Given the description of an element on the screen output the (x, y) to click on. 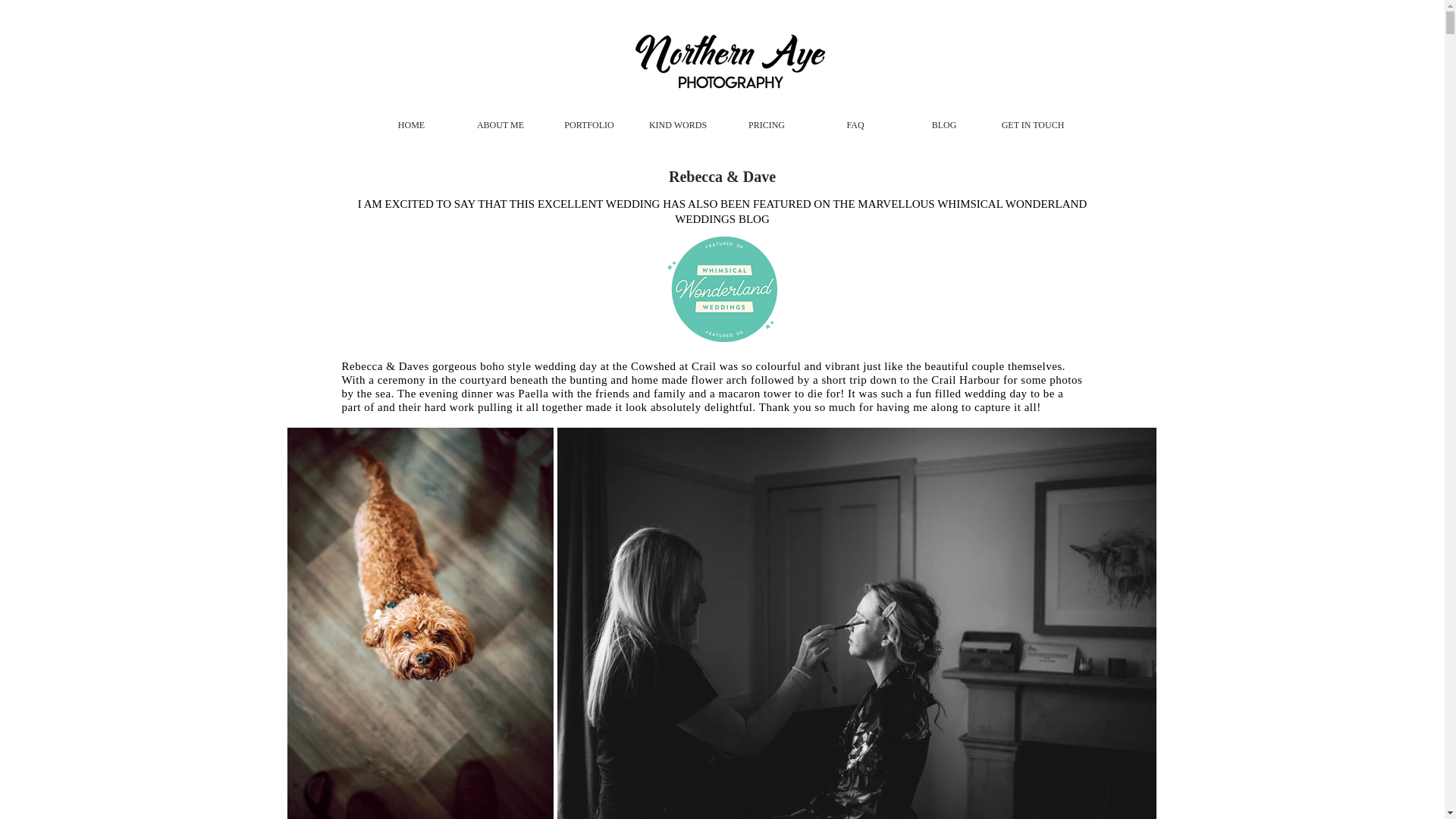
HOME (410, 125)
BLOG (944, 125)
FAQ (854, 125)
KIND WORDS (677, 125)
PRICING (767, 125)
GET IN TOUCH (1032, 125)
ABOUT ME (500, 125)
PORTFOLIO (589, 125)
